Given the description of an element on the screen output the (x, y) to click on. 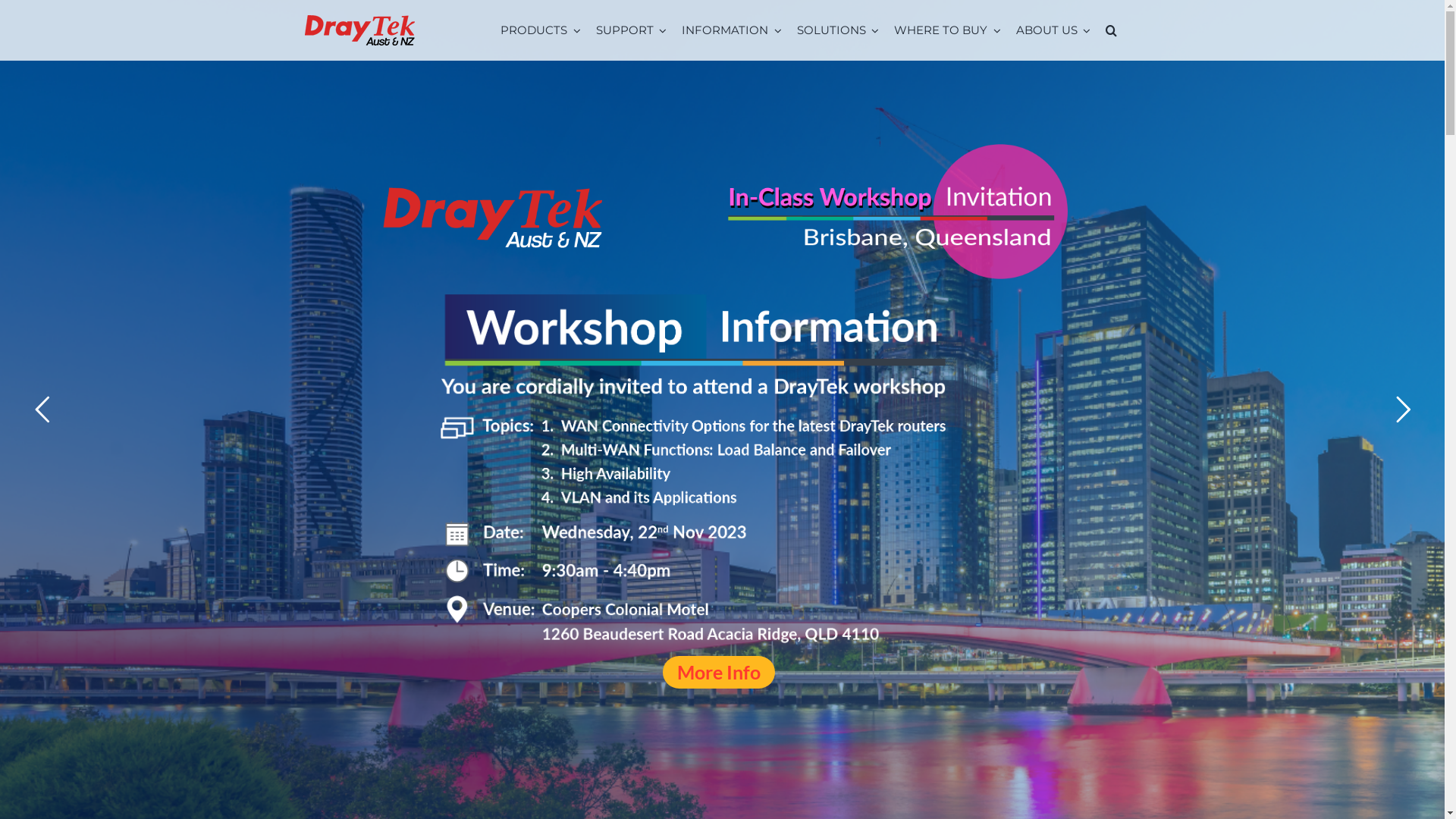
PRODUCTS Element type: text (540, 30)
INFORMATION Element type: text (731, 30)
SUPPORT Element type: text (631, 30)
WHERE TO BUY Element type: text (947, 30)
Search Element type: hover (1111, 30)
ABOUT US Element type: text (1053, 30)
More Info Element type: text (718, 671)
SOLUTIONS Element type: text (838, 30)
